Given the description of an element on the screen output the (x, y) to click on. 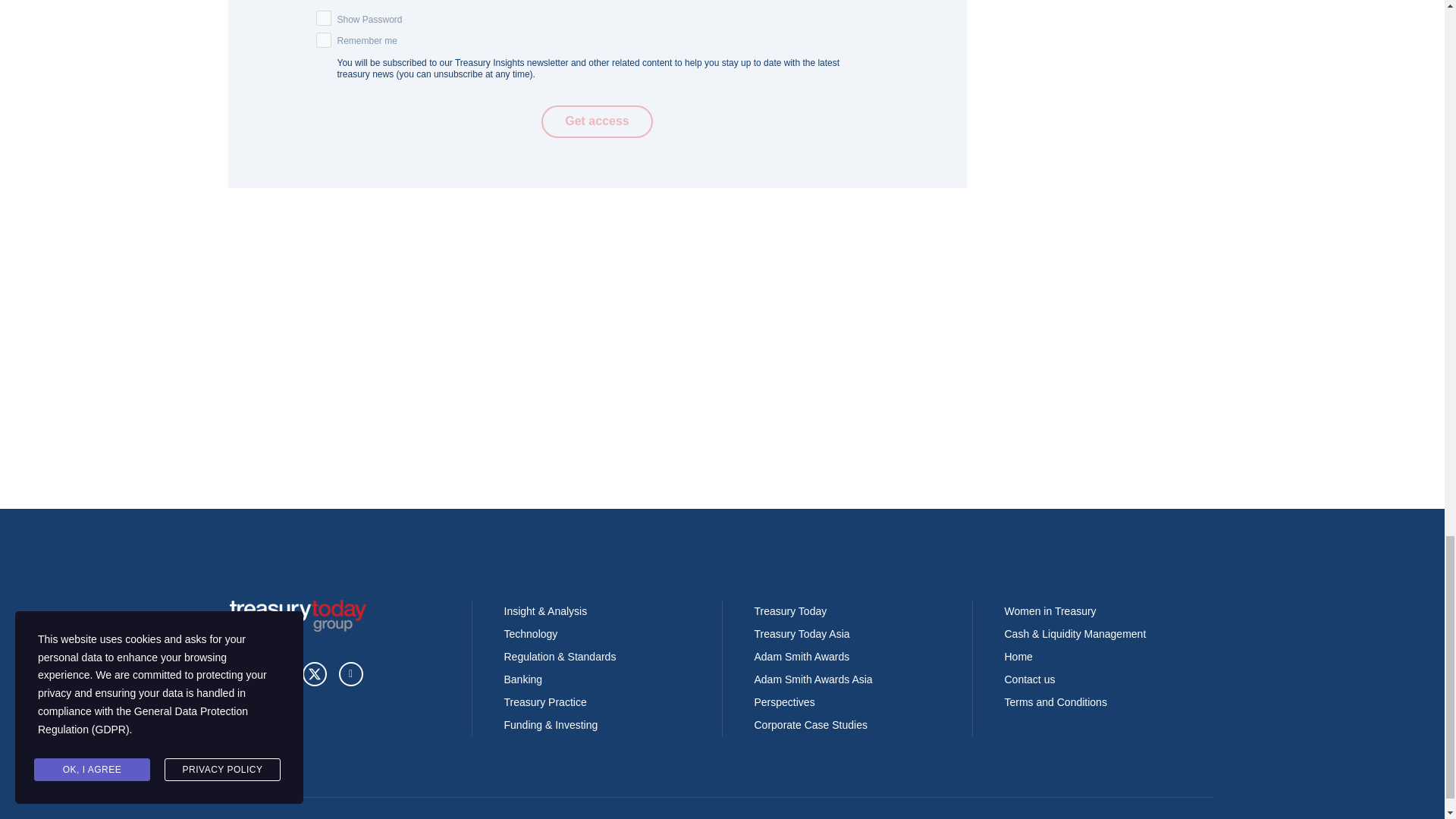
on (322, 17)
on (322, 39)
3rd party ad content (596, 409)
